Given the description of an element on the screen output the (x, y) to click on. 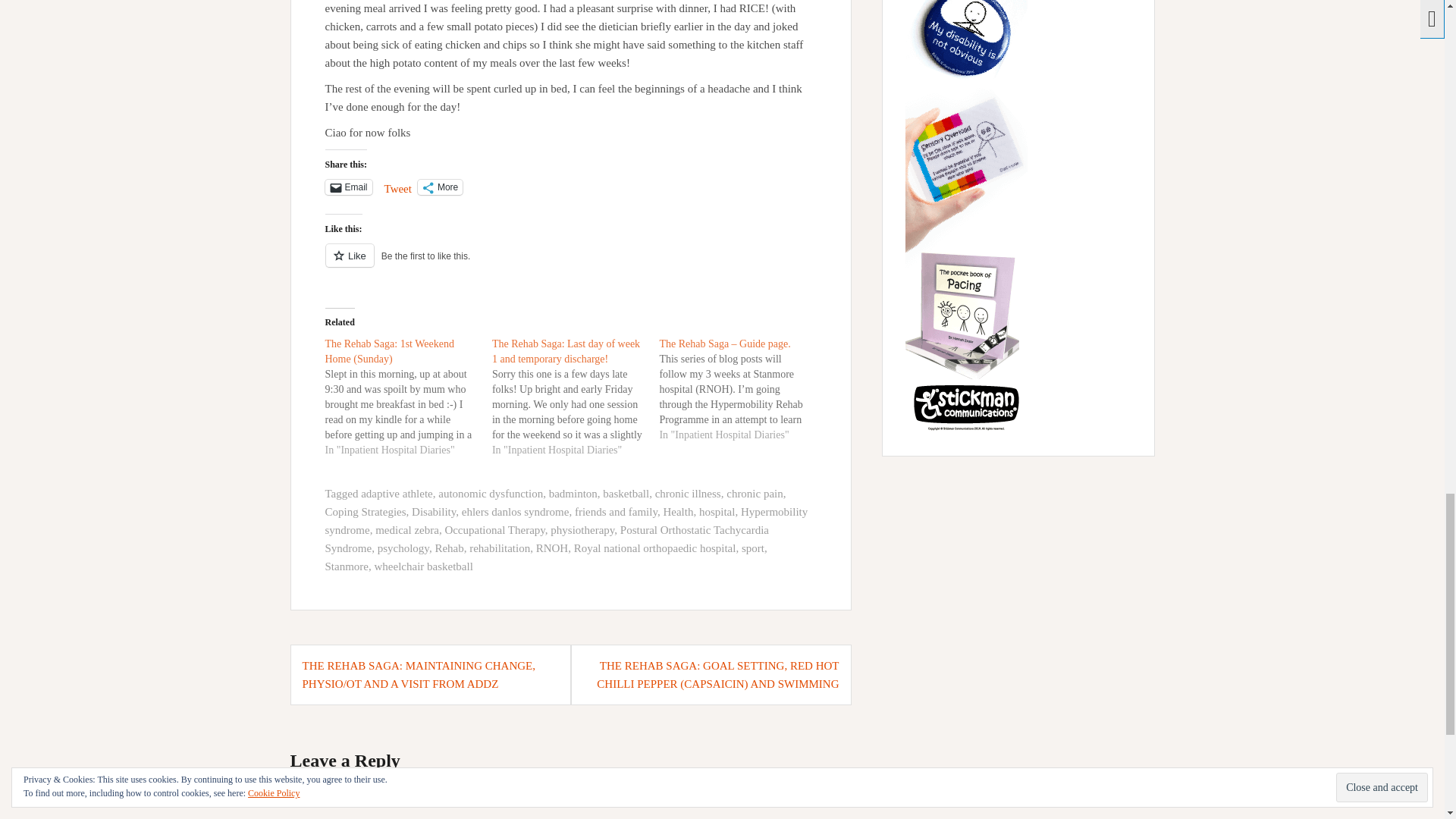
The Rehab Saga: Last day of week 1 and temporary discharge! (575, 396)
The Rehab Saga: Last day of week 1 and temporary discharge! (566, 351)
Stickman Communications (966, 203)
Like or Reblog (569, 264)
Click to email a link to a friend (347, 186)
